Given the description of an element on the screen output the (x, y) to click on. 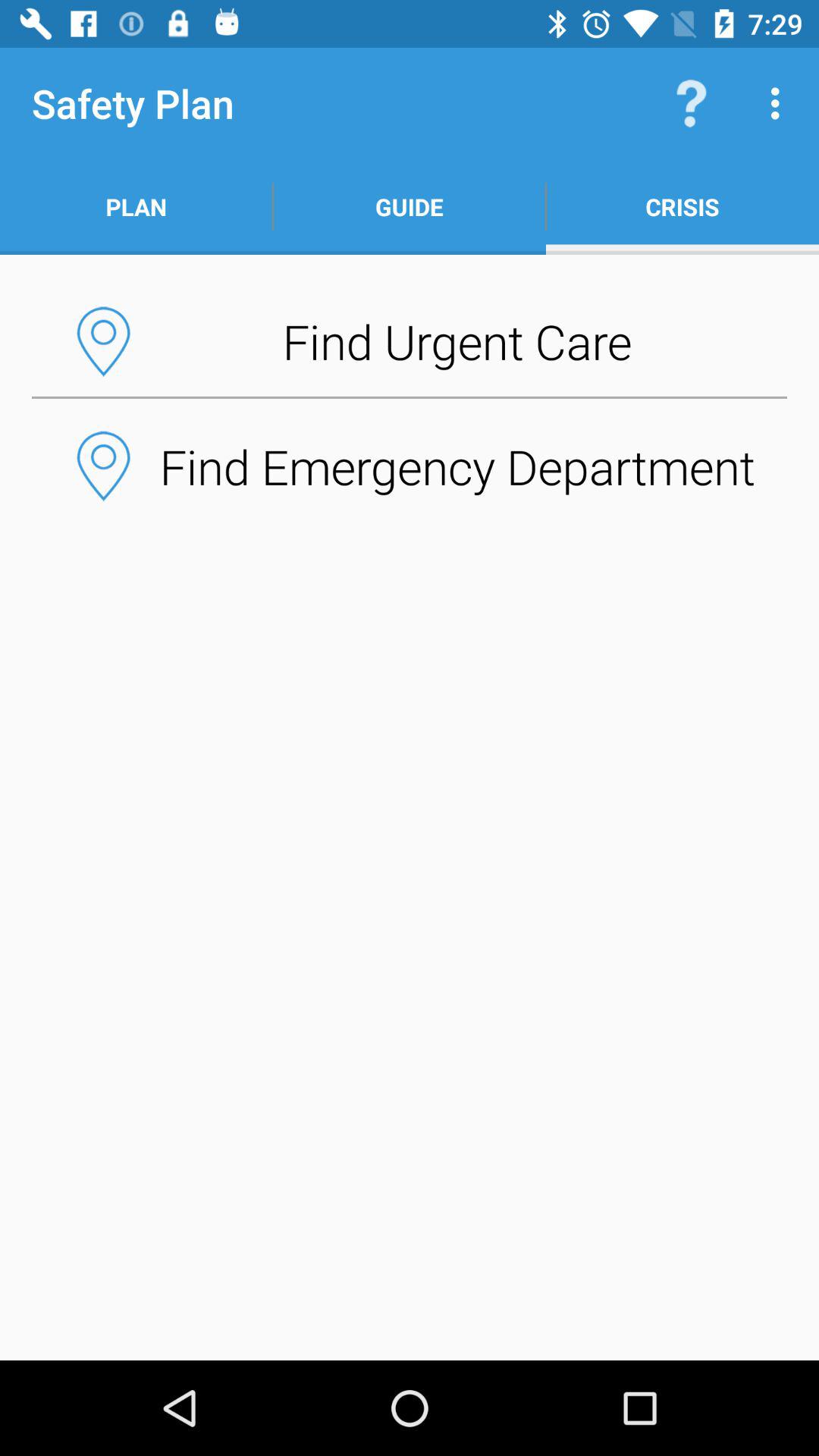
tap the item above the crisis icon (691, 103)
